Given the description of an element on the screen output the (x, y) to click on. 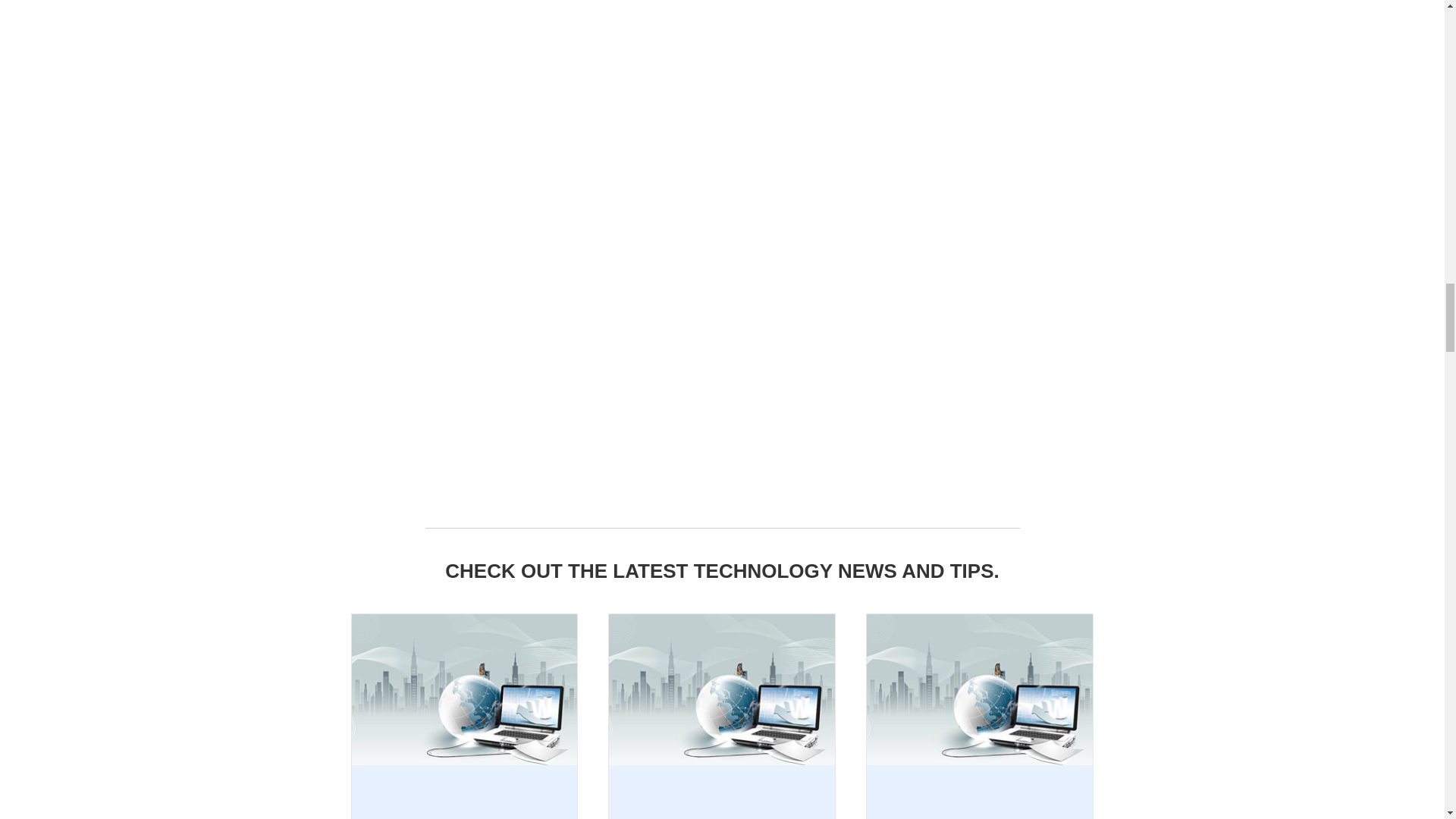
The Benefits of Using Network Segmentation for Cybersecurity (721, 688)
How to Optimize Your Business Database Performance (979, 688)
